Given the description of an element on the screen output the (x, y) to click on. 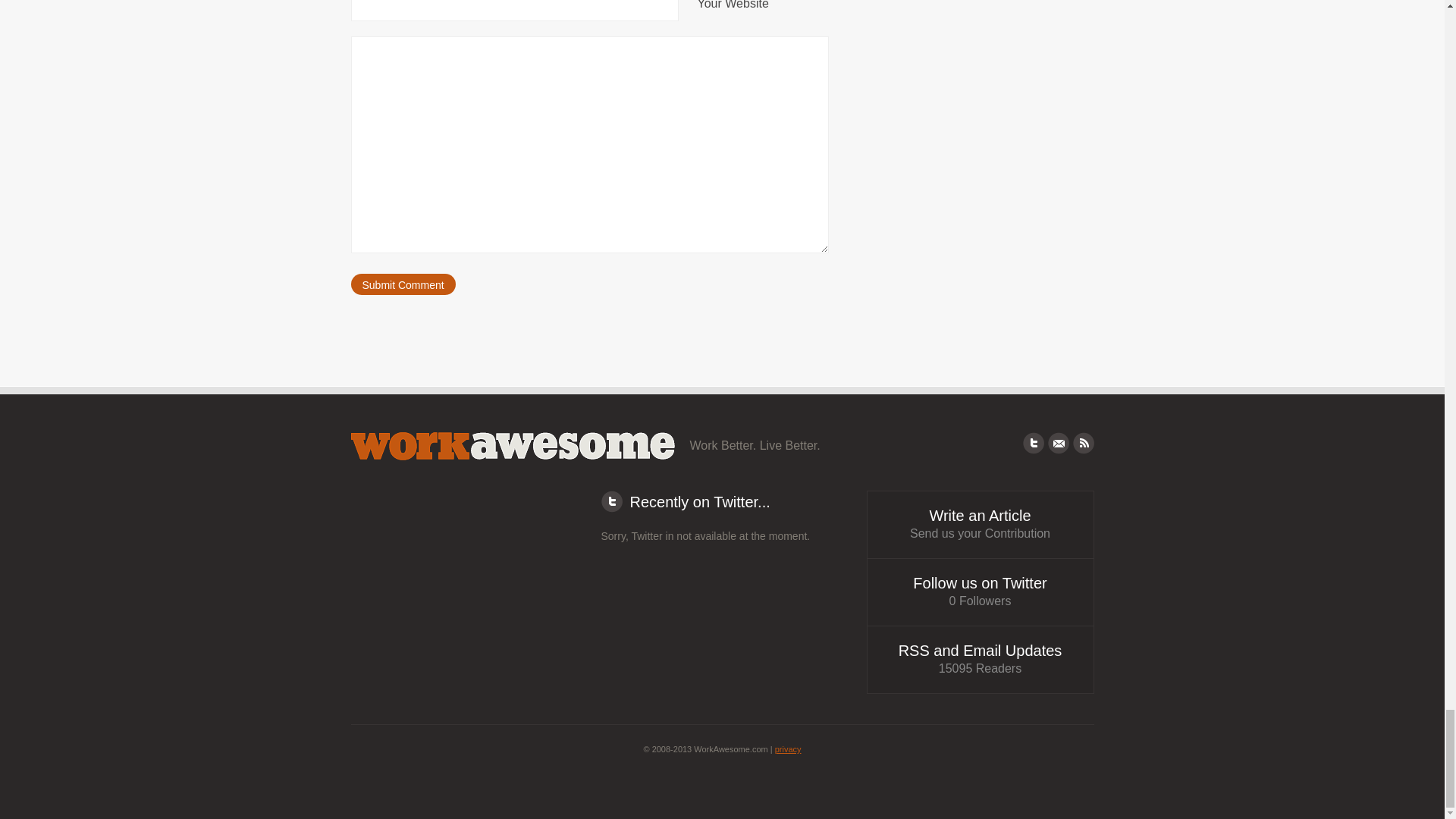
Submit Comment (402, 283)
